Given the description of an element on the screen output the (x, y) to click on. 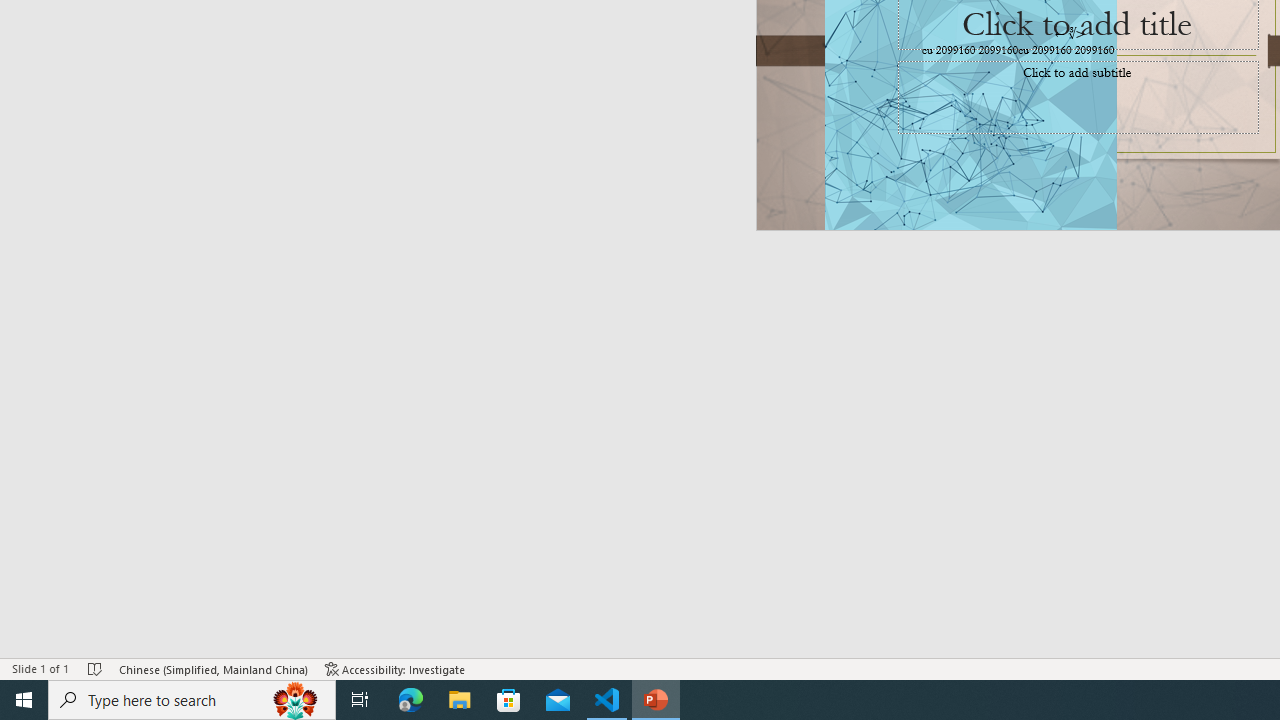
TextBox 7 (1069, 33)
TextBox 61 (1074, 51)
